Given the description of an element on the screen output the (x, y) to click on. 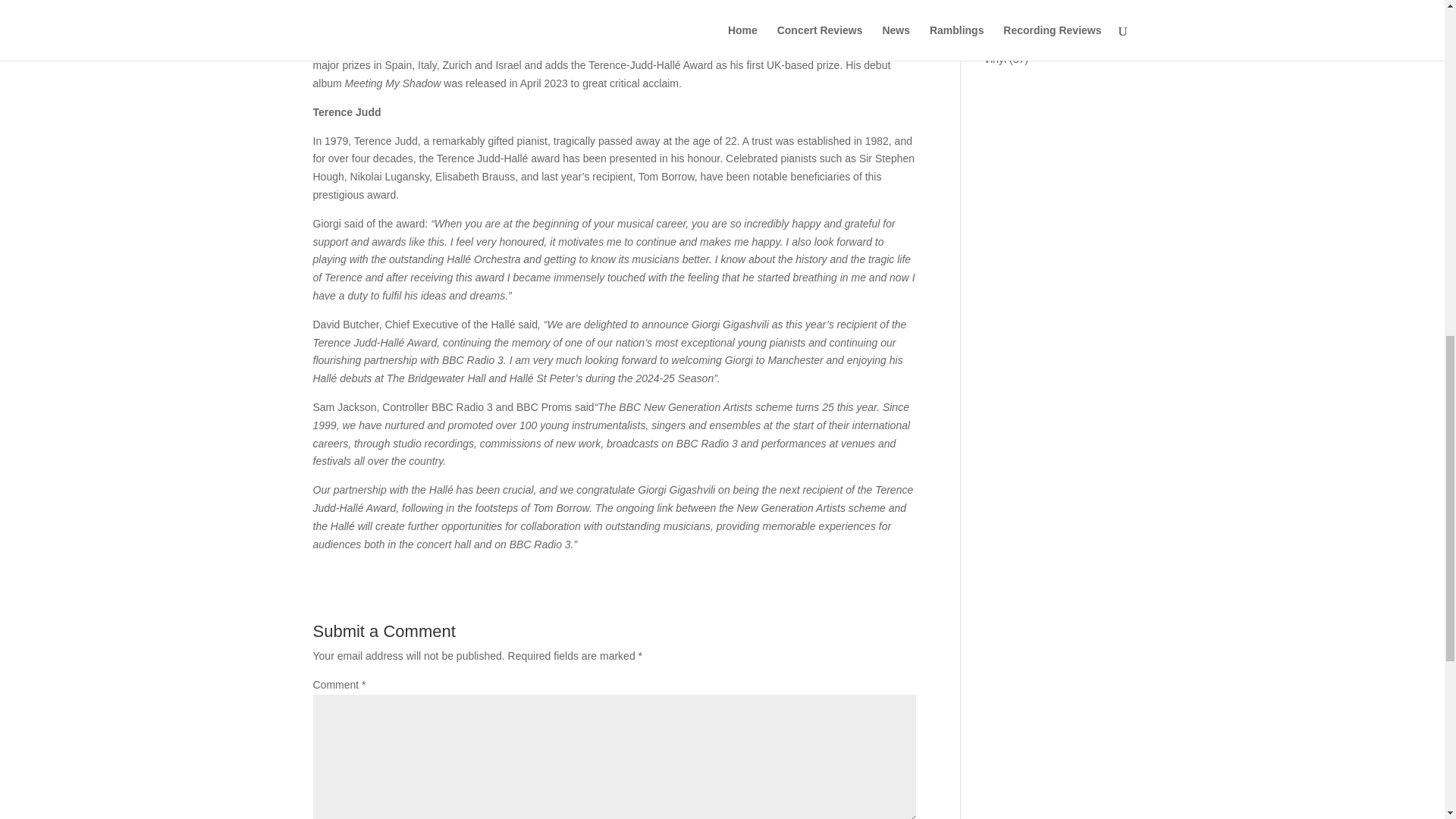
Videos (1000, 36)
Vinyl (995, 59)
Unexpected (1012, 12)
